Given the description of an element on the screen output the (x, y) to click on. 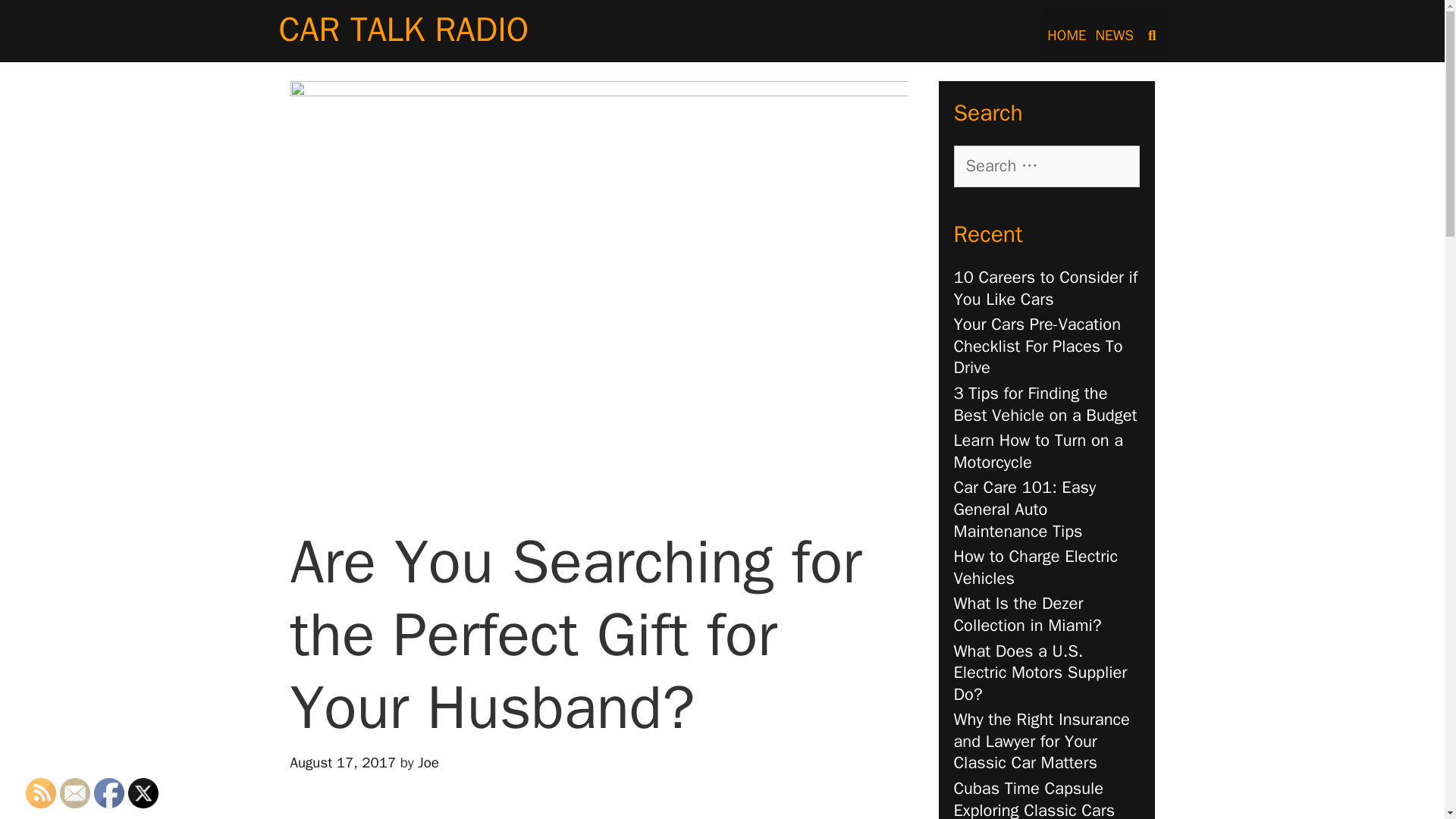
August 17, 2017 (342, 762)
What Does a U.S. Electric Motors Supplier Do? (1039, 671)
Learn How to Turn on a Motorcycle (1038, 451)
Joe (428, 762)
3 Tips for Finding the Best Vehicle on a Budget (1045, 404)
Car Care 101: Easy General Auto Maintenance Tips (1024, 508)
2:52 pm (342, 762)
HOME (1066, 35)
Search for: (1046, 166)
View all posts by Joe (428, 762)
NEWS (1114, 35)
Search (61, 26)
Cubas Time Capsule Exploring Classic Cars (1034, 798)
Search (37, 19)
